Given the description of an element on the screen output the (x, y) to click on. 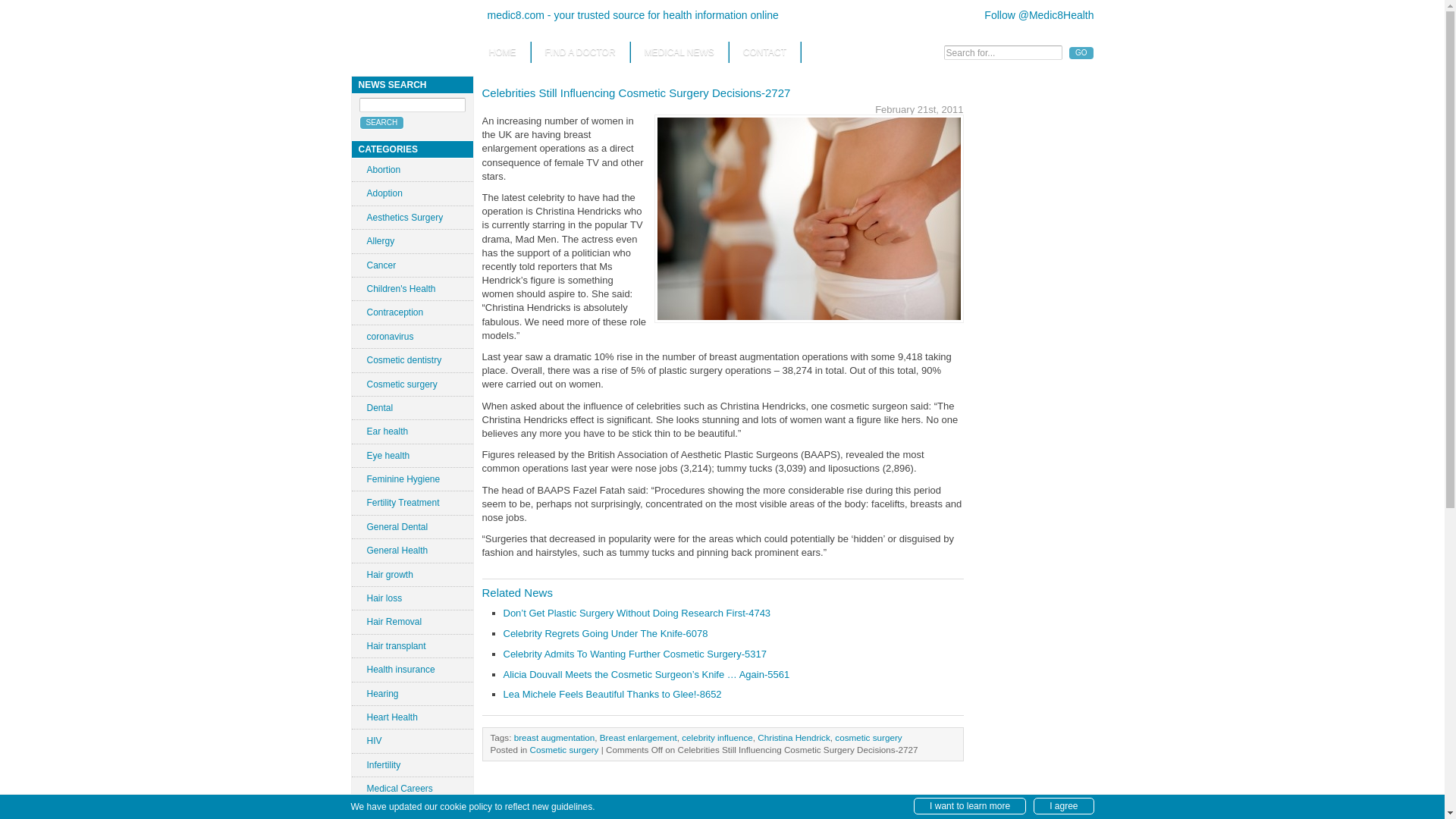
Celebrity Admits To Wanting Further Cosmetic Surgery-5317 (635, 654)
Search for... (1002, 52)
Hair loss (412, 598)
celebrity influence (716, 737)
Cancer (412, 264)
Christina Hendrick (793, 737)
Dental (412, 407)
Fertility Treatment (412, 502)
coronavirus (412, 336)
Abortion (412, 169)
